Given the description of an element on the screen output the (x, y) to click on. 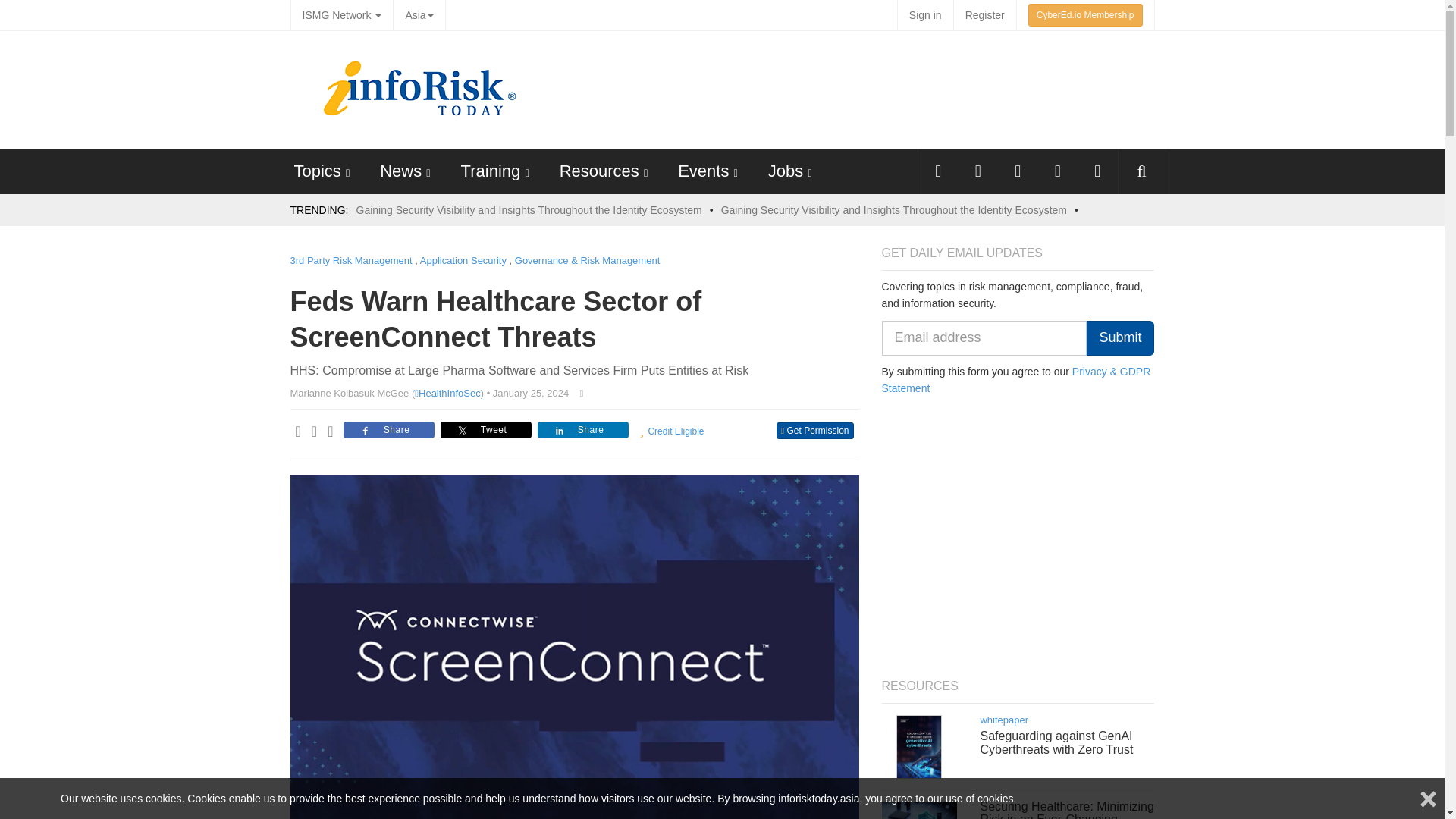
ISMG Network (341, 15)
3rd party ad content (873, 88)
CyberEd.io Membership (1084, 15)
Register (984, 15)
Sign in (925, 15)
Asia (418, 15)
Topics (317, 170)
